Given the description of an element on the screen output the (x, y) to click on. 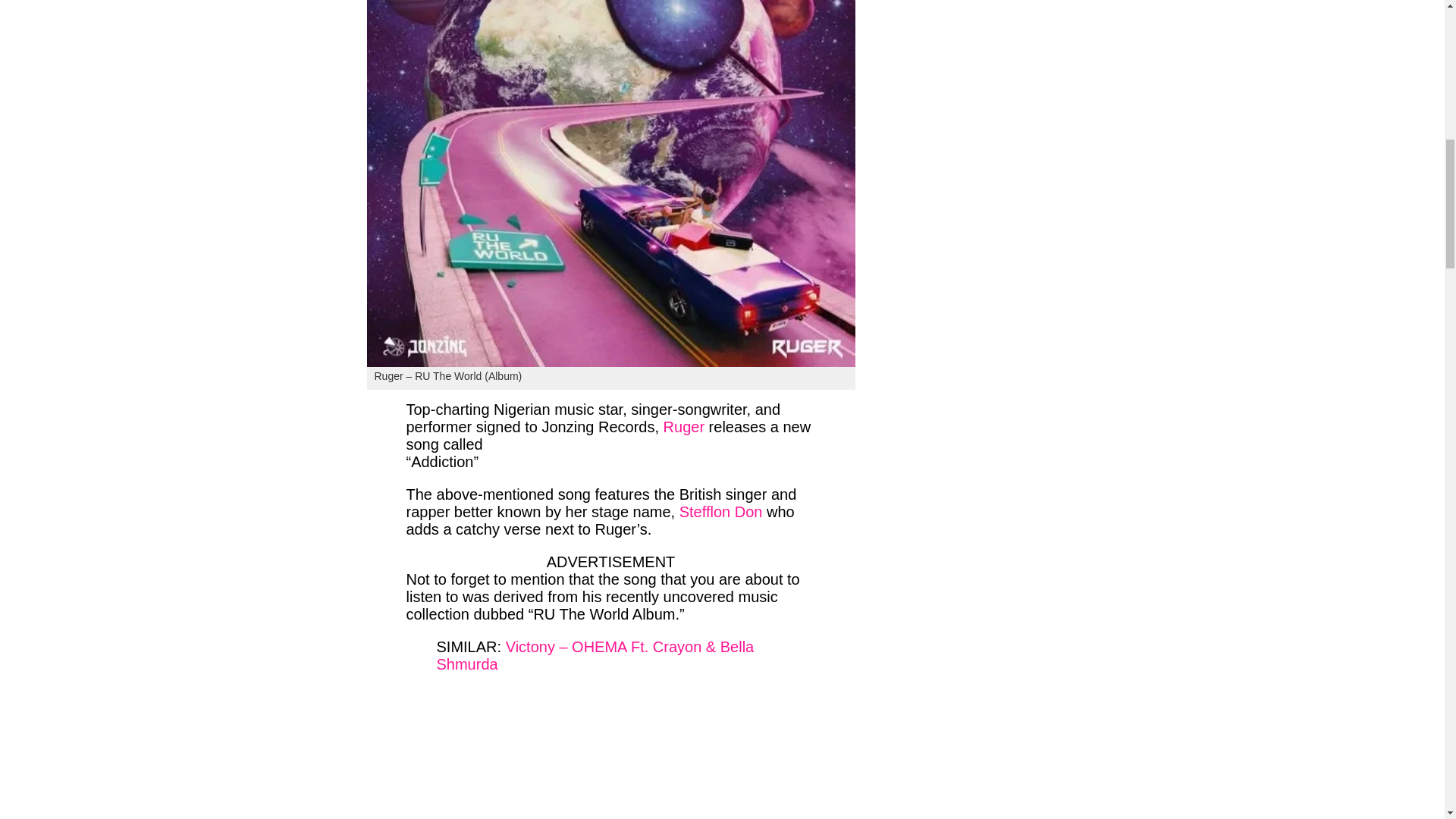
Advertisement (610, 753)
